Given the description of an element on the screen output the (x, y) to click on. 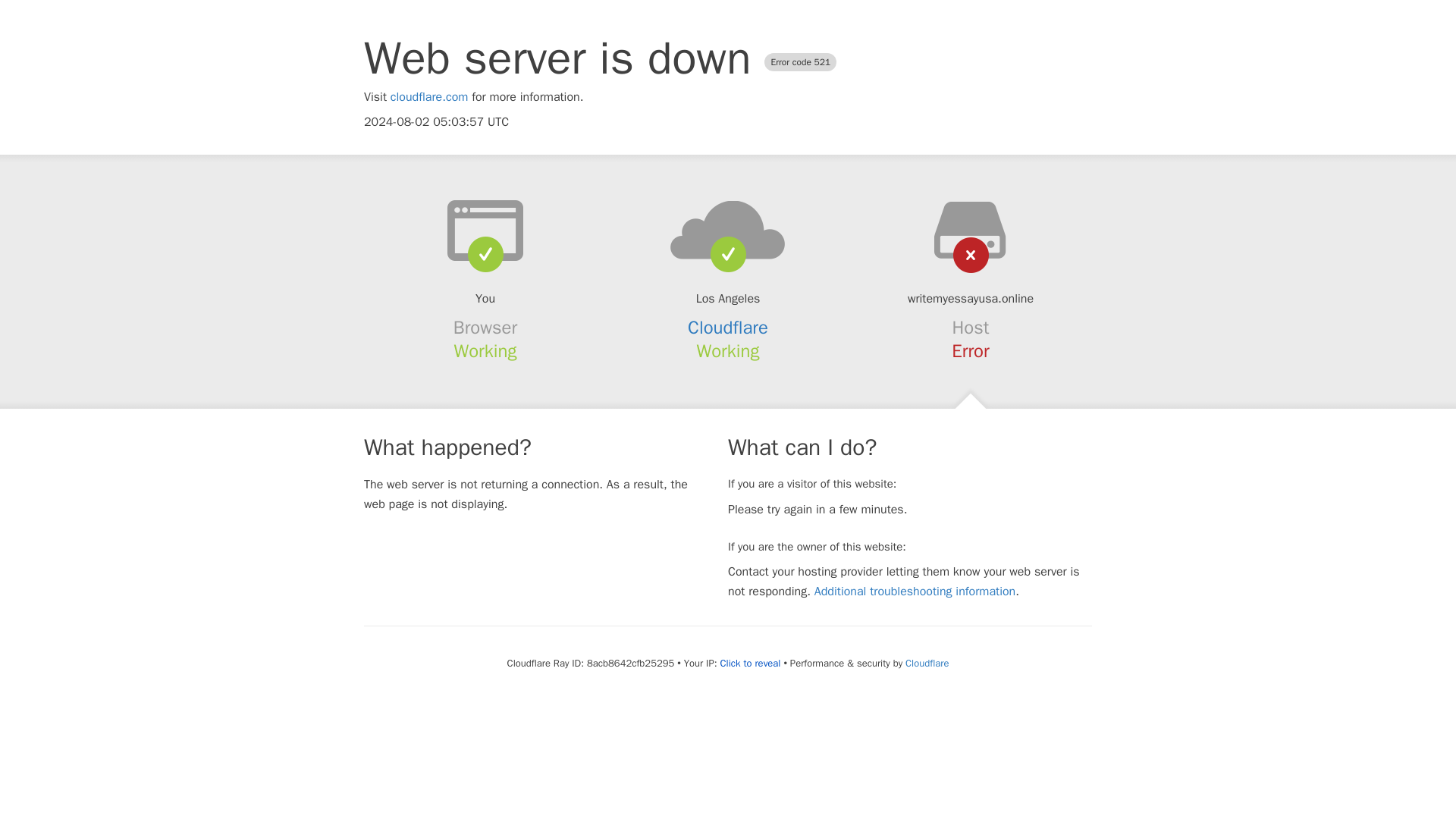
Additional troubleshooting information (913, 590)
cloudflare.com (429, 96)
Cloudflare (927, 662)
Cloudflare (727, 327)
Click to reveal (750, 663)
